Given the description of an element on the screen output the (x, y) to click on. 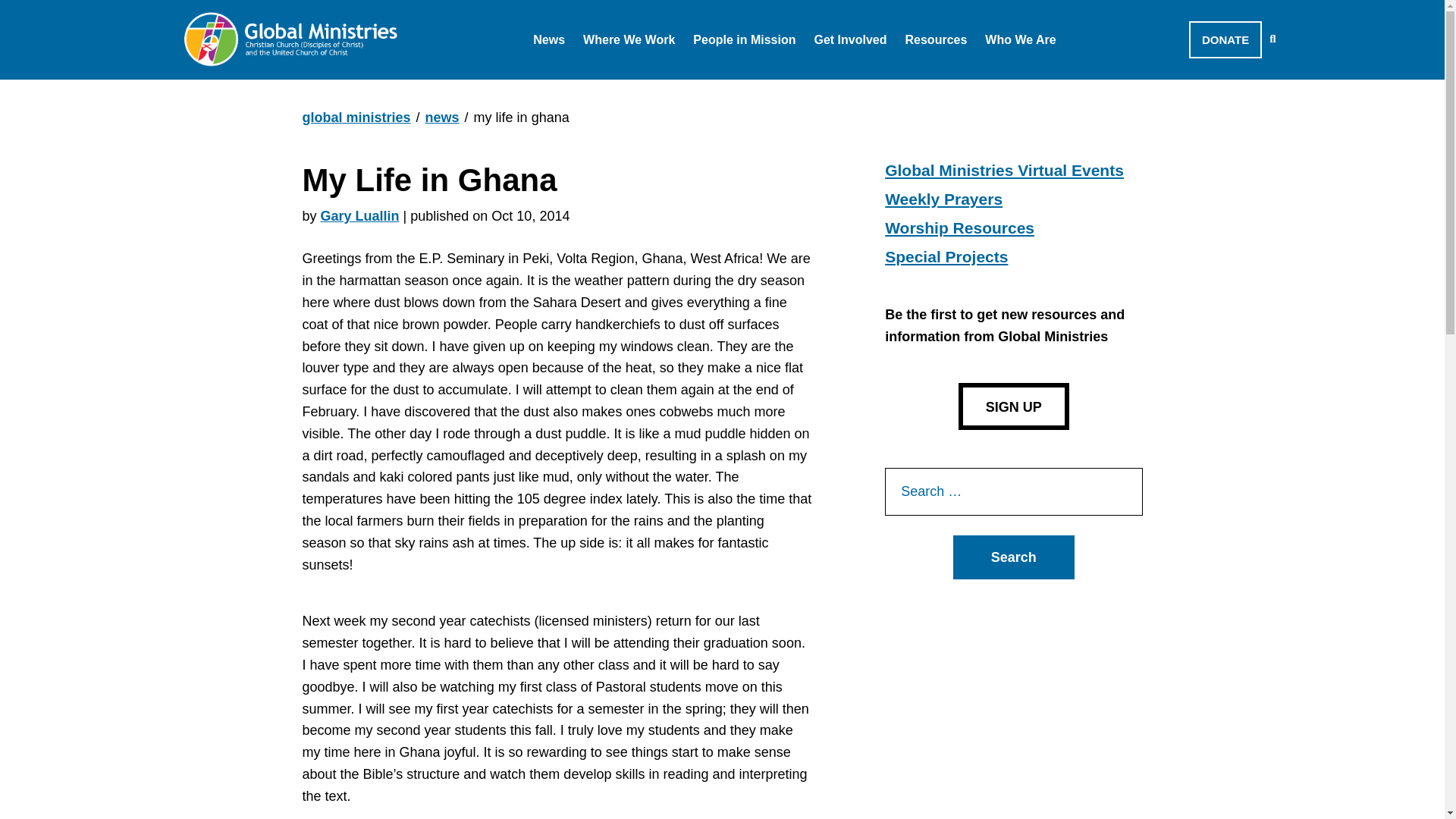
Justice and Advocacy (899, 79)
Child and Elder Sponsorship (922, 79)
Losses to the Family (615, 79)
Global Ministries Virtual Events (650, 79)
East Asia and the Pacific (678, 79)
Southern Asia (644, 79)
Calendar of Missionary Visits (643, 79)
People in Mission (743, 40)
Go to Global Ministries. (355, 117)
Associates (743, 79)
Global Mission Interns (780, 79)
Where We Work (629, 40)
Get Involved (849, 40)
Middle East and Europe (675, 79)
Give Online or by Check (1161, 67)
